Given the description of an element on the screen output the (x, y) to click on. 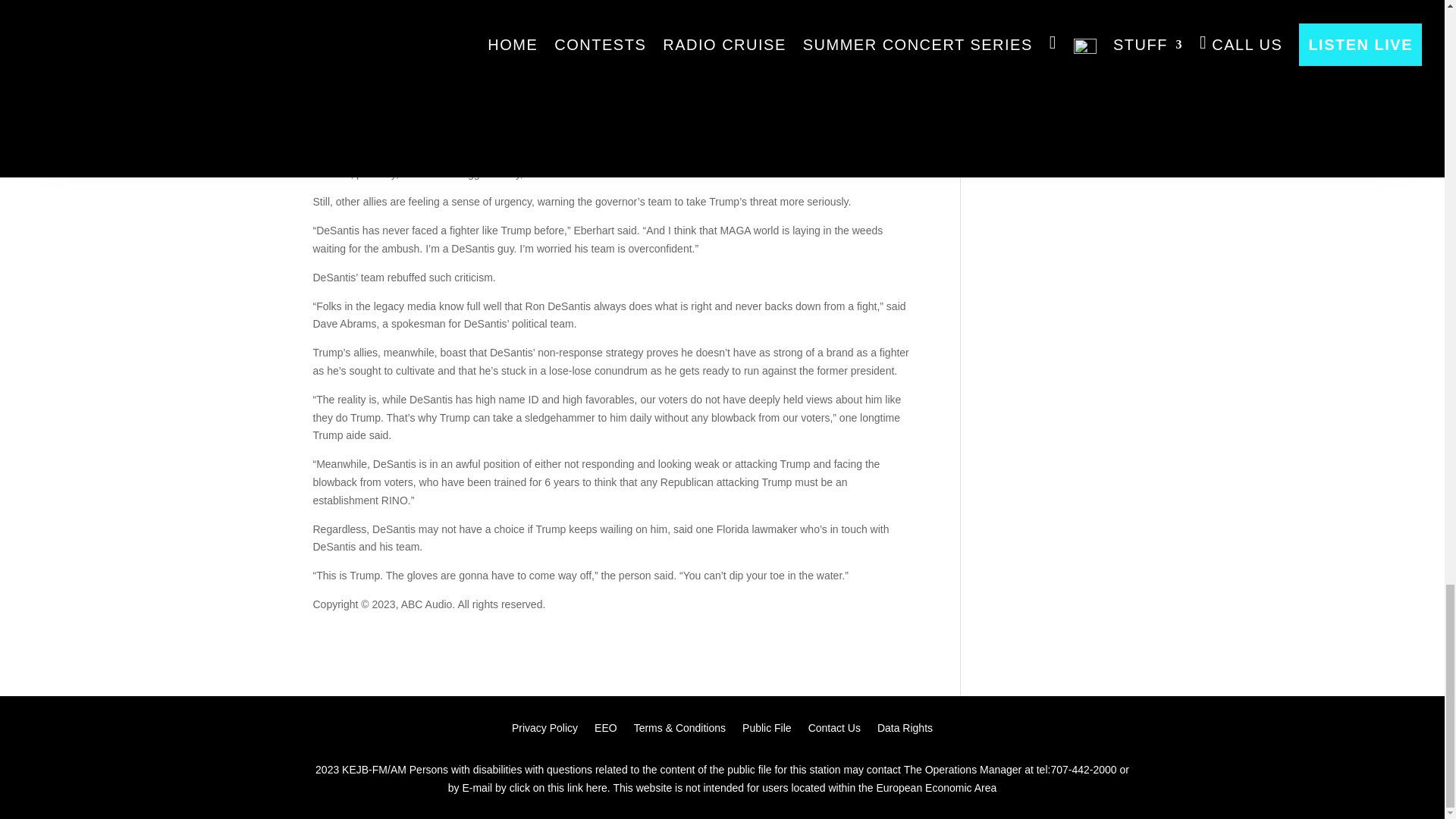
EEO (605, 730)
Public File (767, 730)
Contact Us (834, 730)
here (596, 787)
Data Rights (905, 730)
Privacy Policy (545, 730)
